Given the description of an element on the screen output the (x, y) to click on. 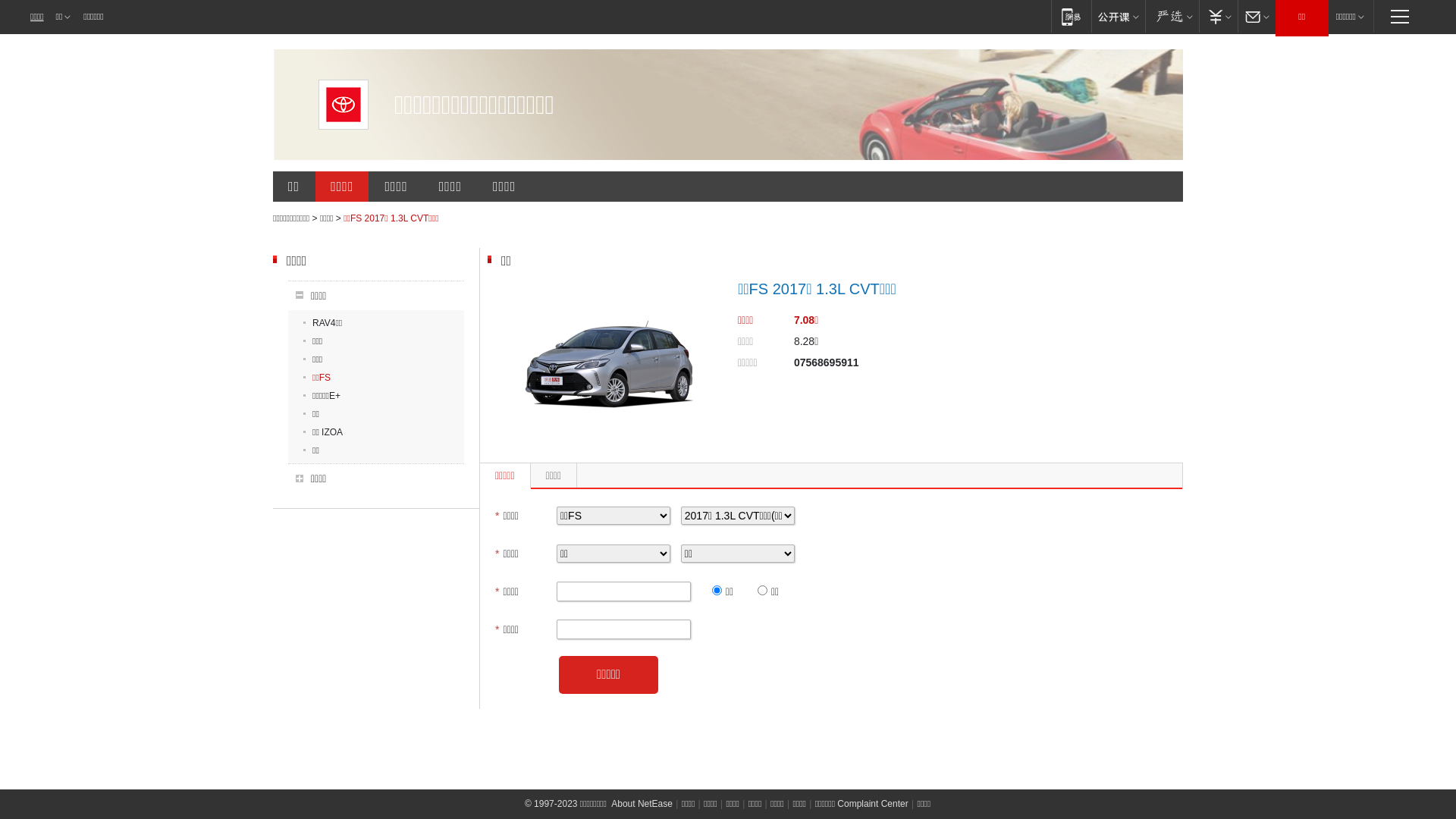
About NetEase Element type: text (641, 803)
